Given the description of an element on the screen output the (x, y) to click on. 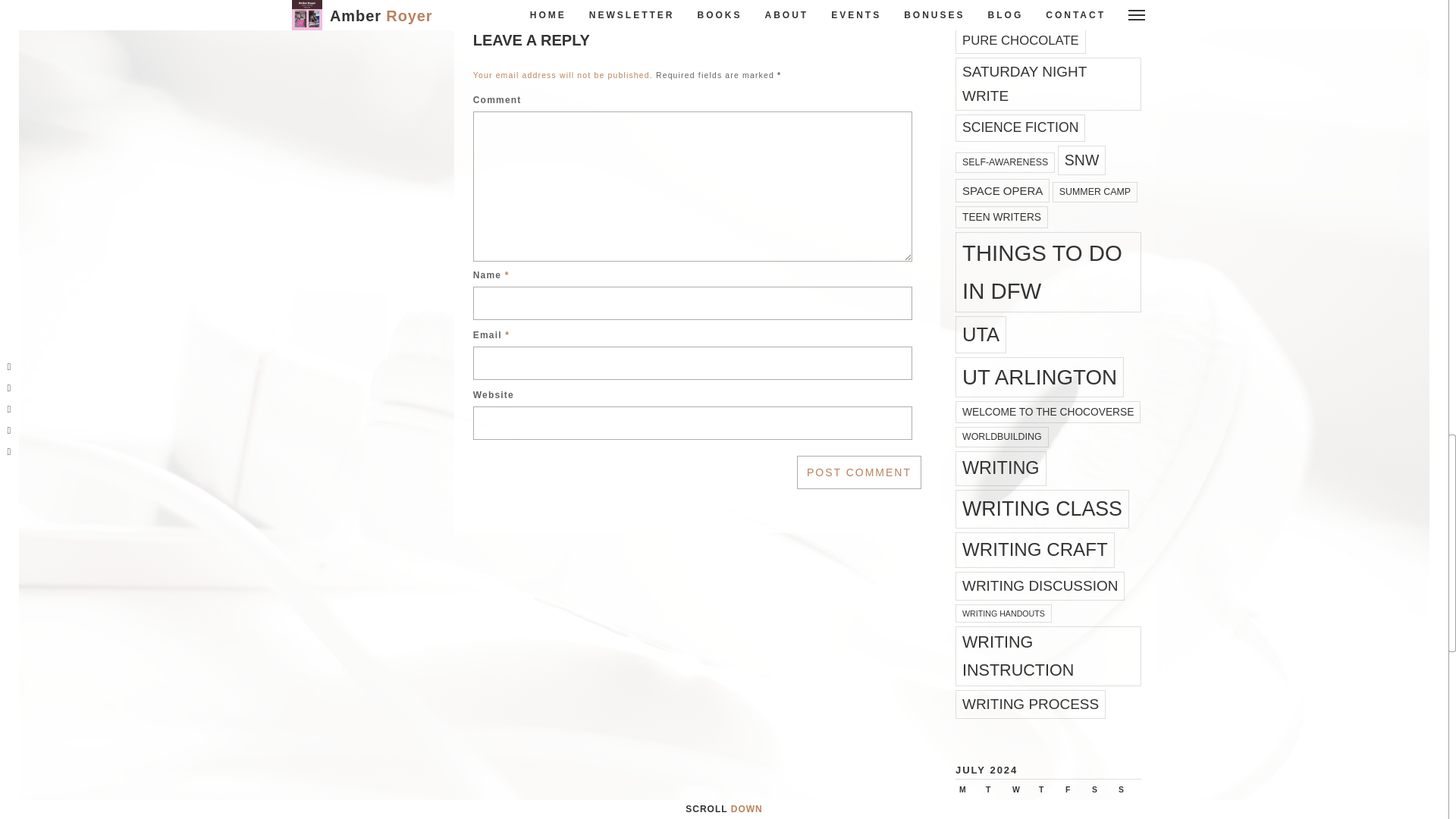
Wednesday (1022, 790)
Sunday (1128, 790)
Tuesday (995, 790)
Friday (1074, 790)
Monday (968, 790)
Post Comment (858, 471)
Thursday (1048, 790)
Saturday (1101, 790)
